Given the description of an element on the screen output the (x, y) to click on. 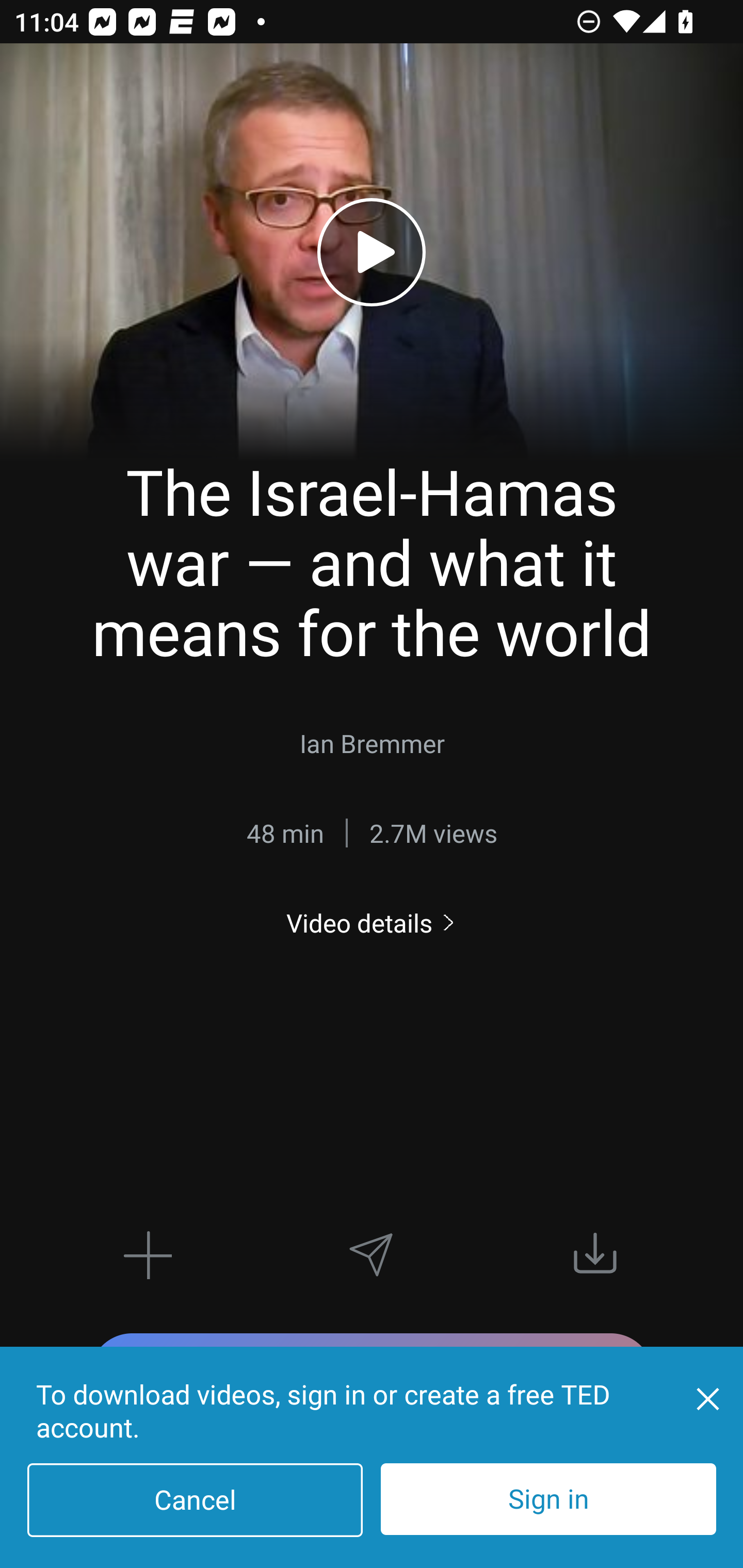
Video details (371, 922)
Cancel (194, 1499)
Sign in (548, 1498)
